Given the description of an element on the screen output the (x, y) to click on. 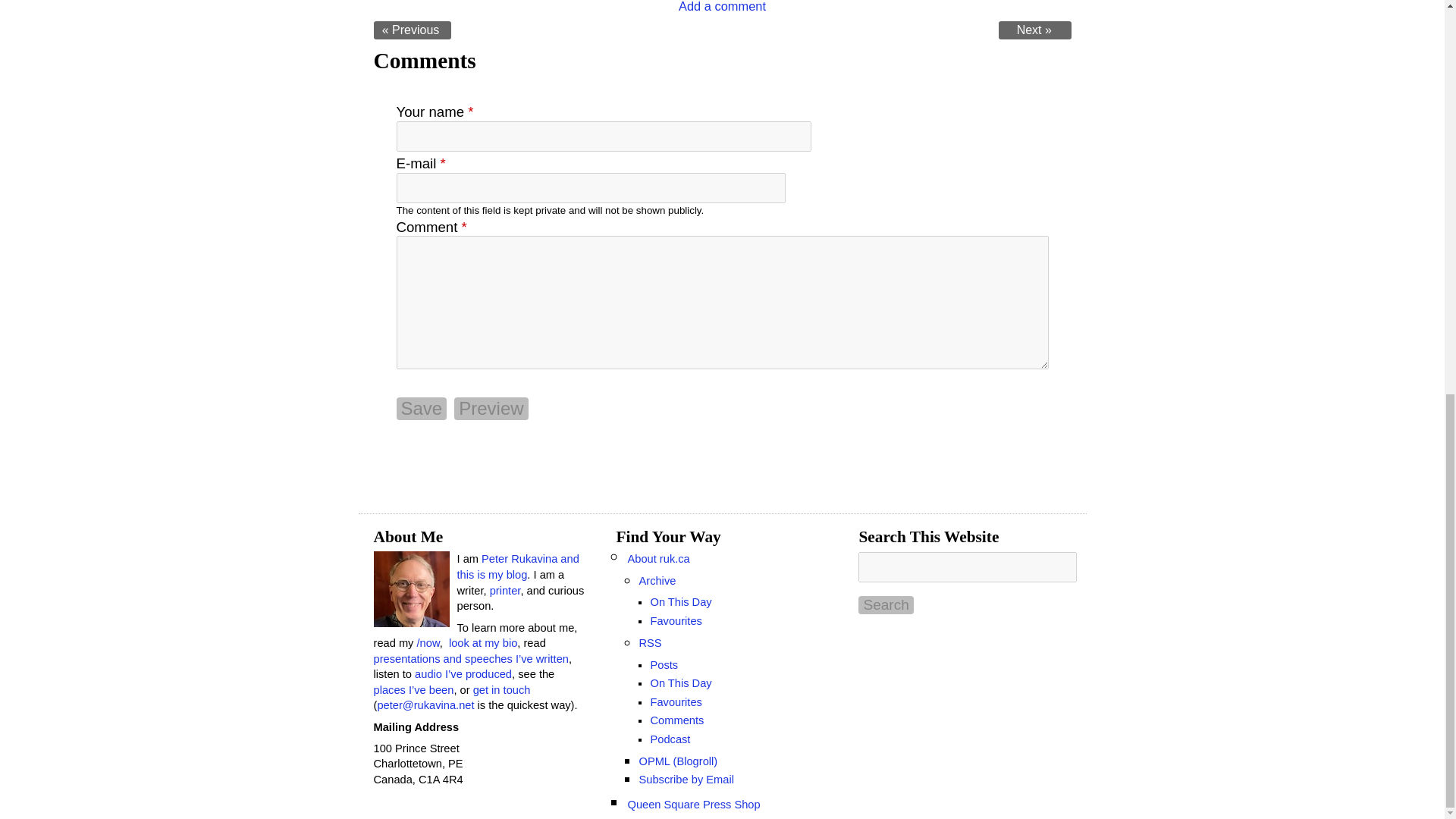
The Source (1034, 30)
Favourites (675, 621)
Favourites (675, 702)
Save (421, 408)
Add a comment (721, 6)
Peter Rukavina and this is my blog (517, 566)
On This Day (680, 602)
Save (421, 408)
printer (505, 590)
look at my bio (482, 643)
